Given the description of an element on the screen output the (x, y) to click on. 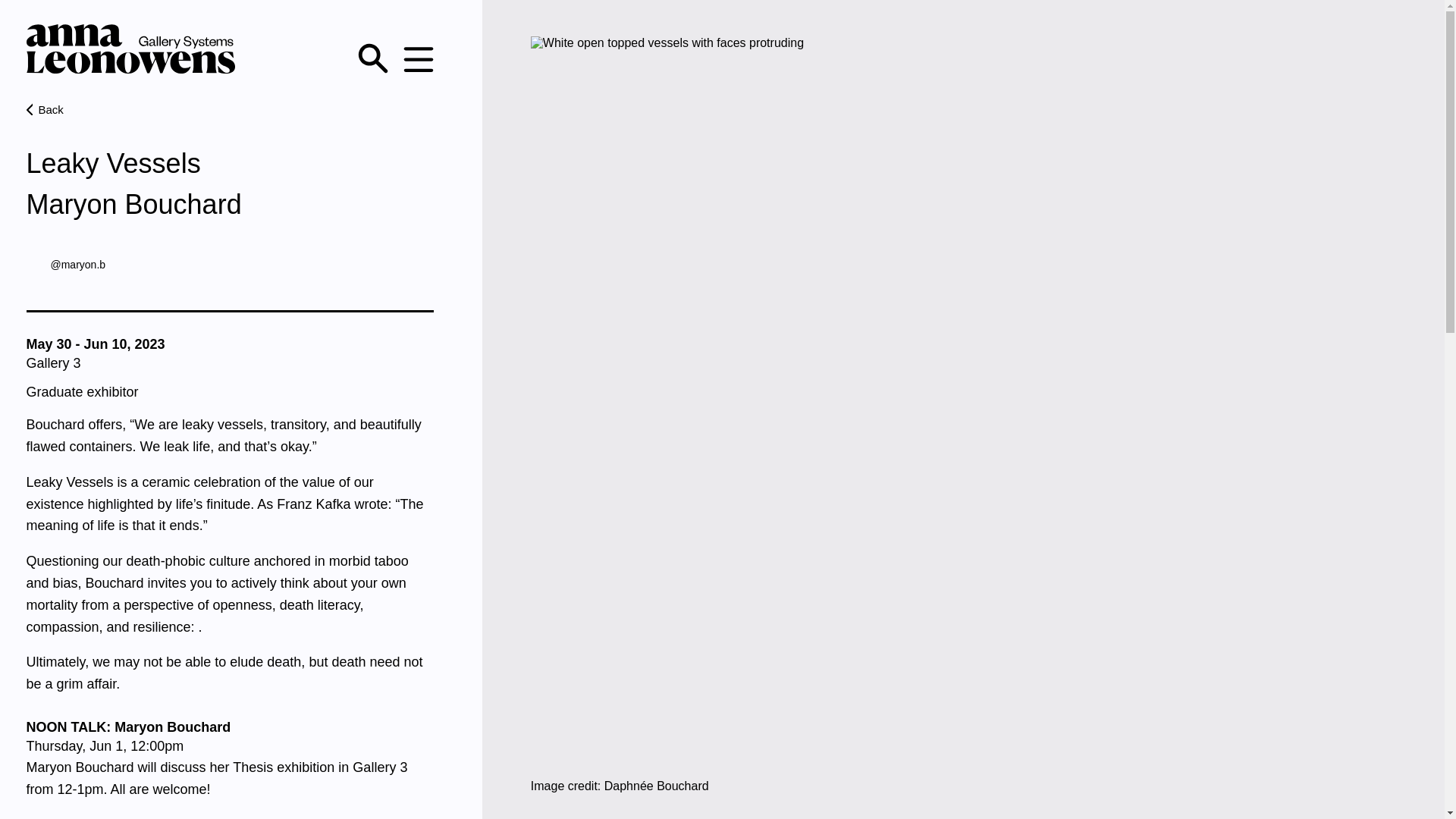
Back (229, 109)
Search the site (373, 59)
Search the site (373, 58)
